Given the description of an element on the screen output the (x, y) to click on. 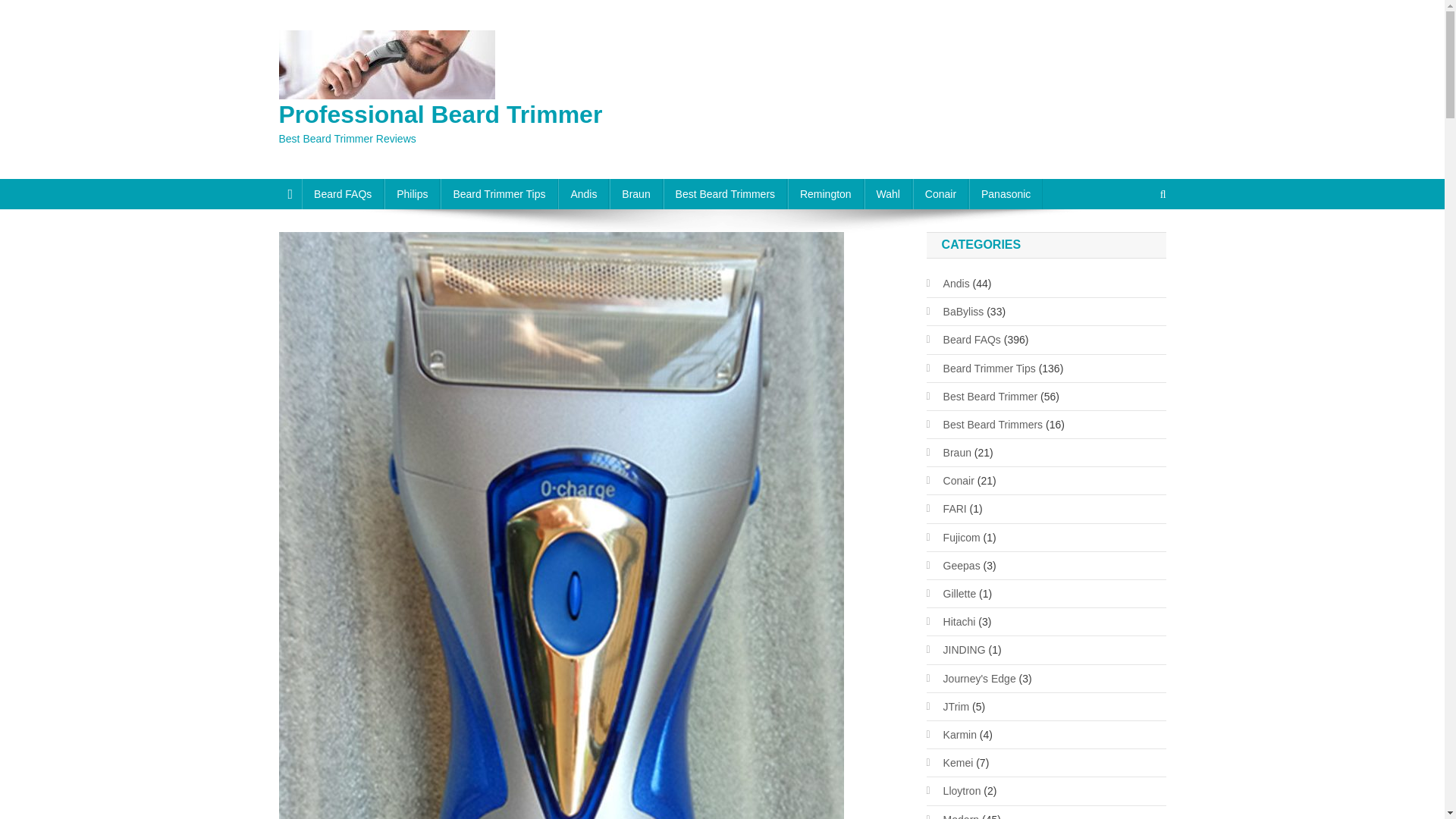
Search (1133, 244)
Beard FAQs (342, 194)
Andis (582, 194)
Best Beard Trimmers (725, 194)
Braun (636, 194)
Professional Beard Trimmer (440, 113)
Remington (825, 194)
Conair (940, 194)
Philips (411, 194)
Beard Trimmer Tips (499, 194)
Wahl (888, 194)
Panasonic (1005, 194)
